Given the description of an element on the screen output the (x, y) to click on. 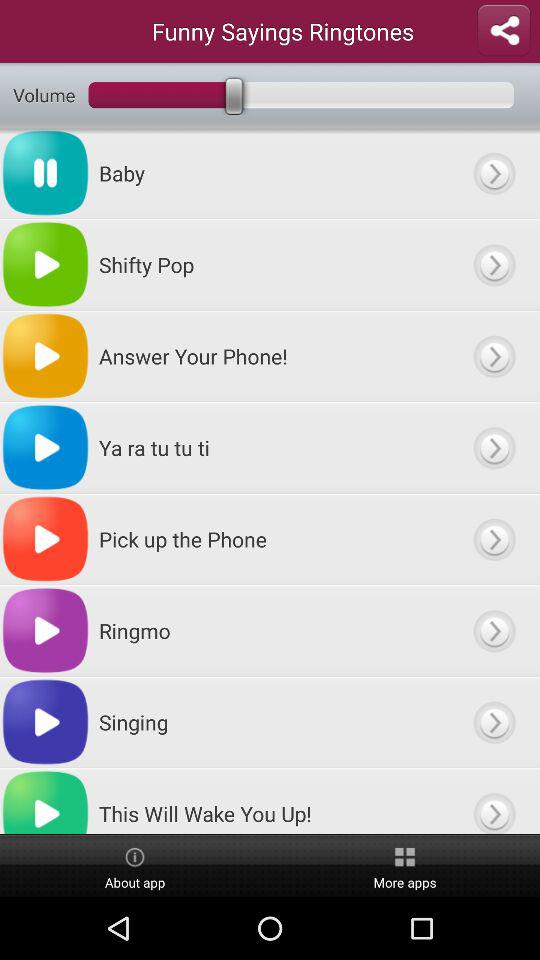
share the audio (503, 31)
